Given the description of an element on the screen output the (x, y) to click on. 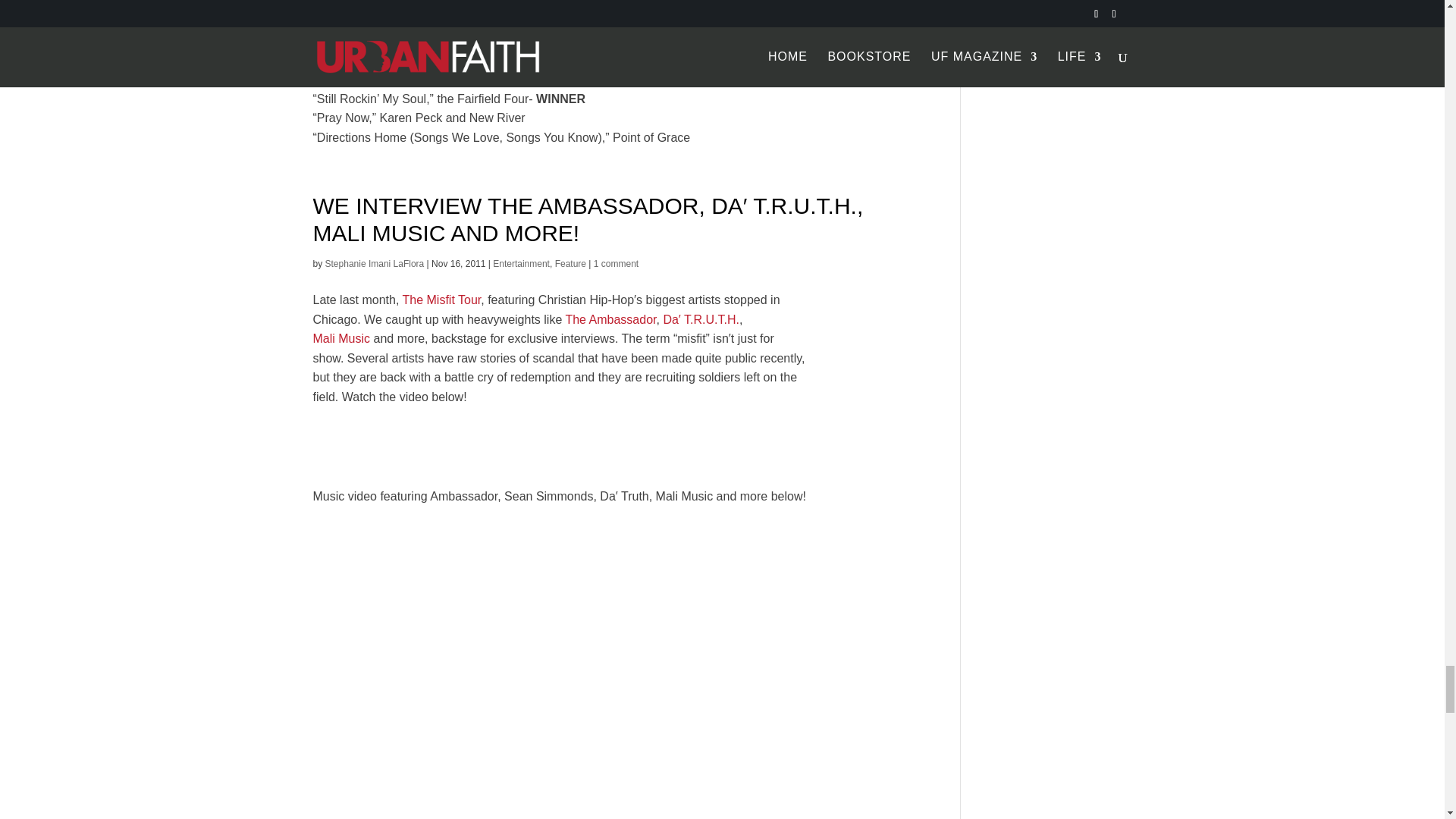
Posts by Stephanie Imani LaFlora (374, 263)
